Given the description of an element on the screen output the (x, y) to click on. 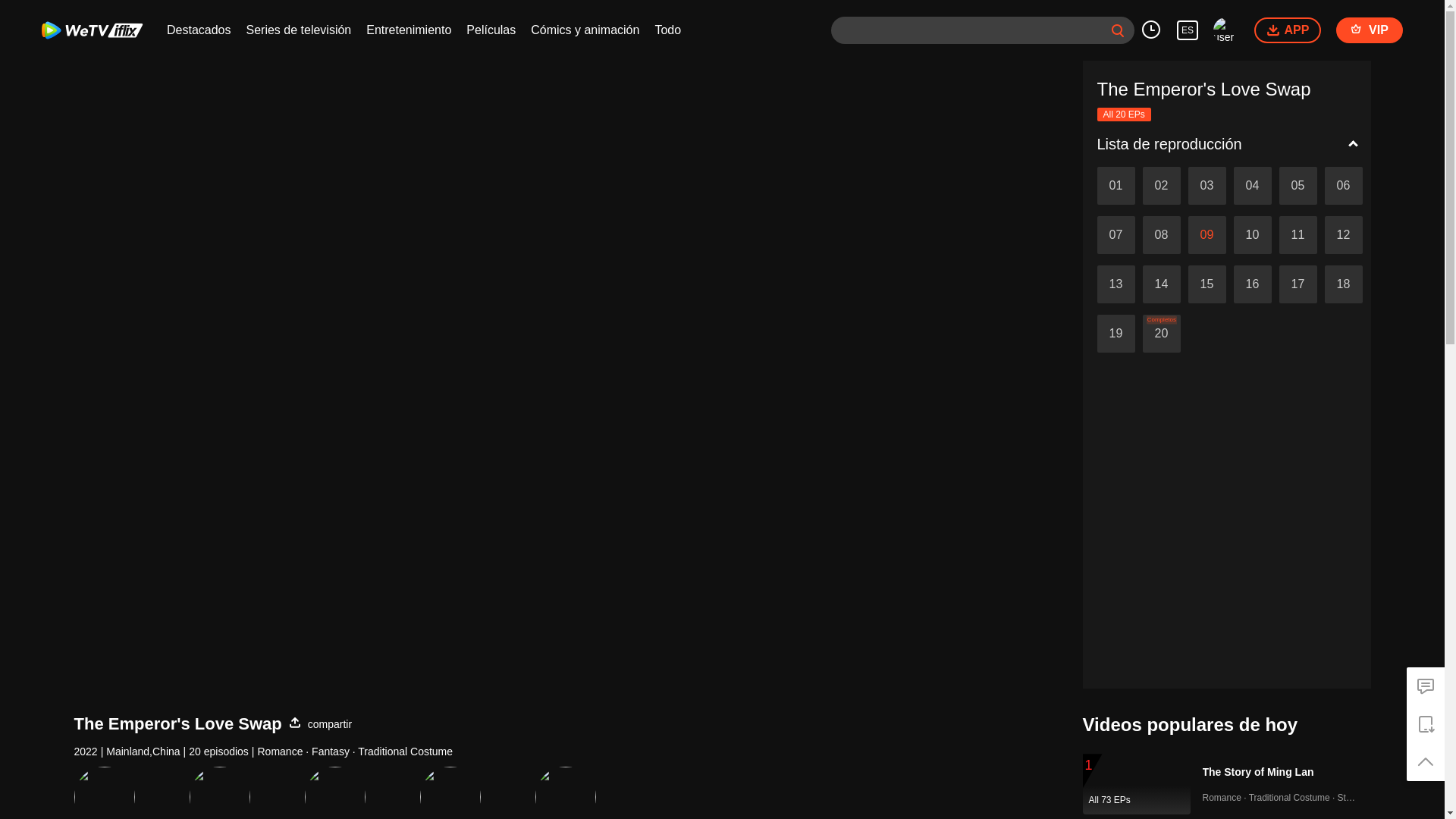
VIP (1369, 30)
Entretenimiento (408, 30)
Destacados (199, 30)
